Given the description of an element on the screen output the (x, y) to click on. 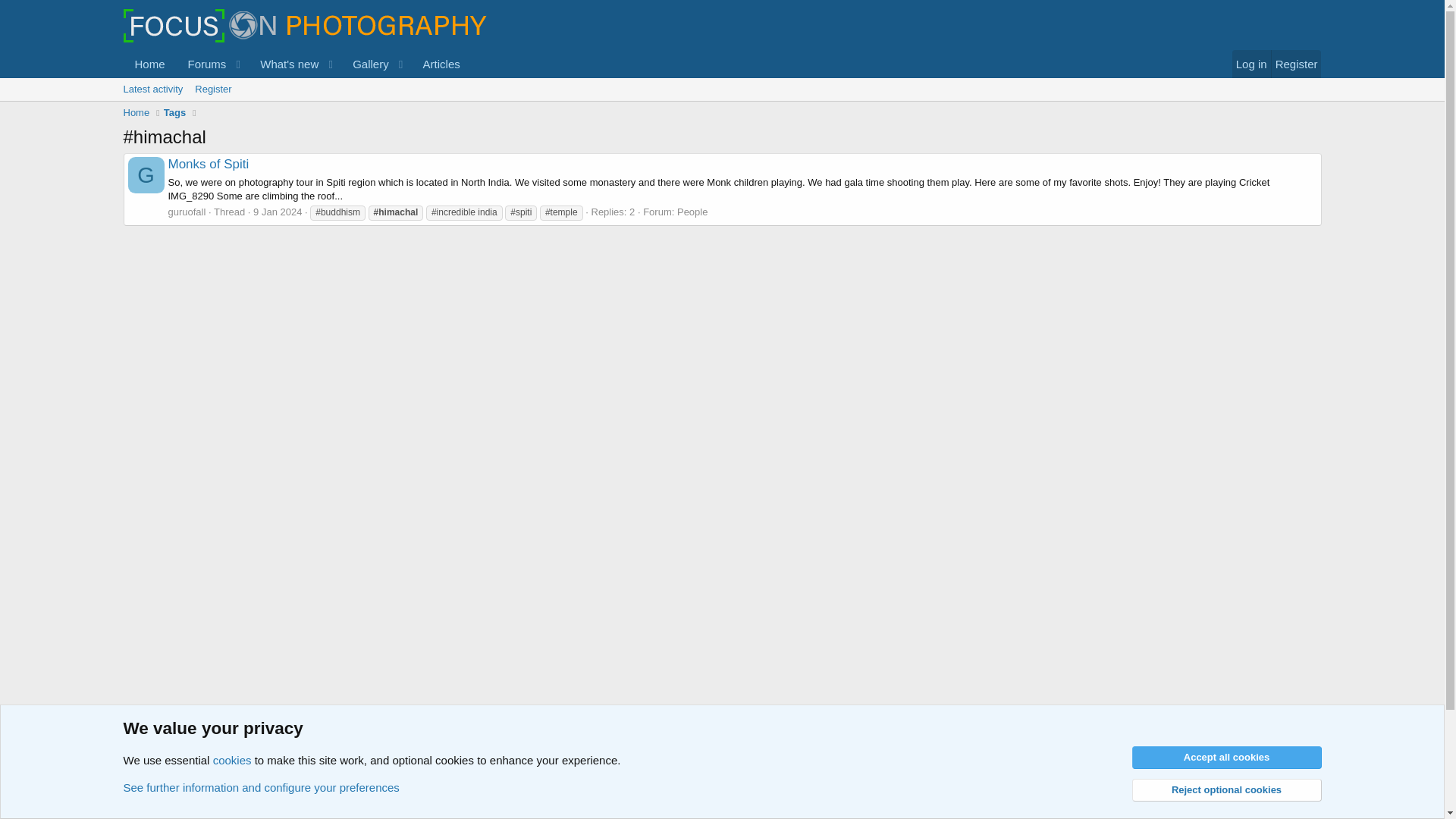
Register (213, 88)
Home (135, 765)
Tags (174, 765)
Contact us (1051, 788)
Terms and rules (1120, 788)
Log in (1251, 63)
9 Jan 2024 at 03:23 (277, 211)
Default style (209, 788)
Home (135, 112)
Home (149, 63)
Forums (202, 63)
Cookies (146, 788)
Gallery (721, 106)
Latest activity (365, 63)
